Given the description of an element on the screen output the (x, y) to click on. 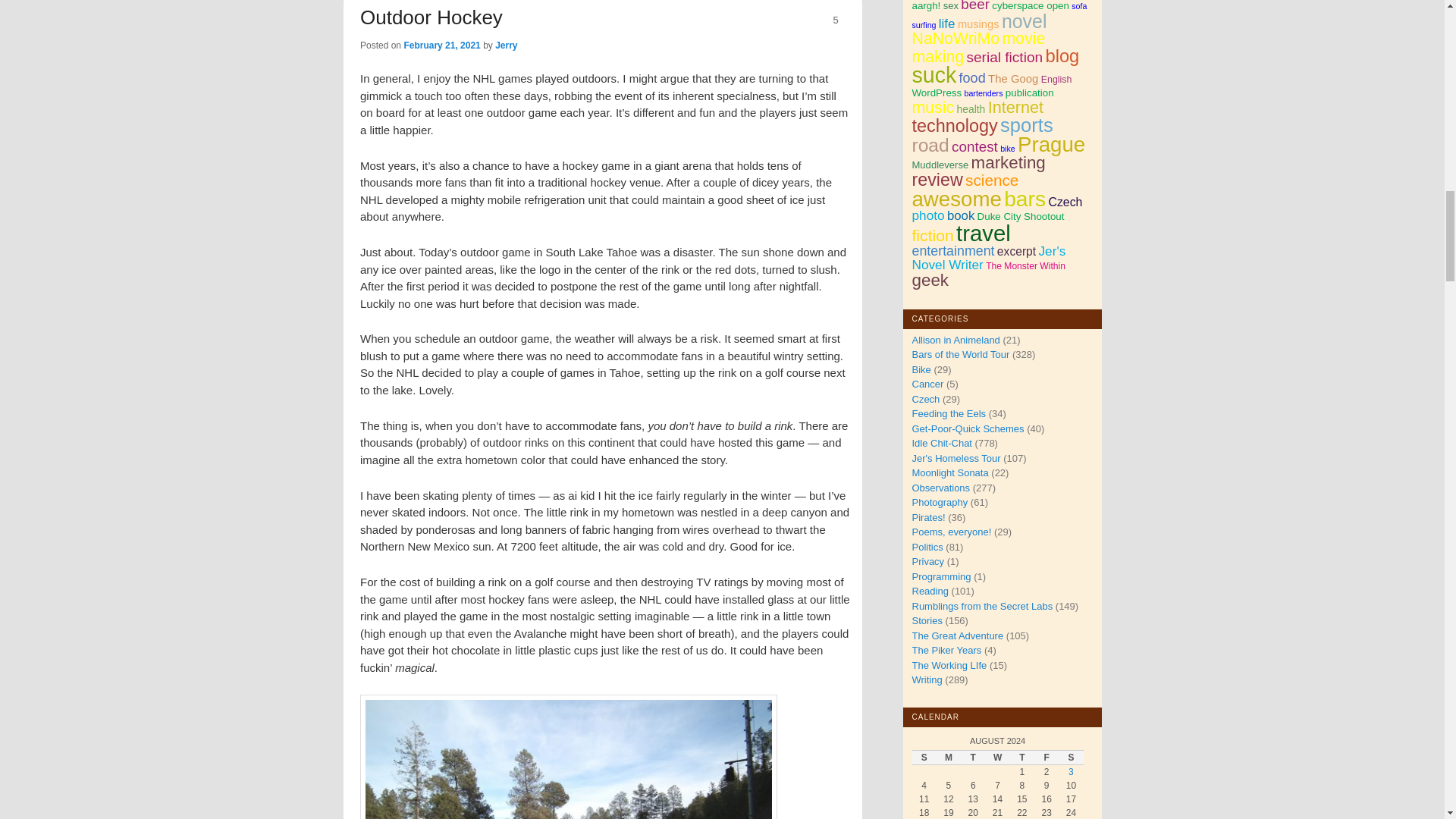
Outdoor Hockey (430, 16)
View all posts by Jerry (505, 45)
5 (834, 20)
1:39 am (441, 45)
February 21, 2021 (441, 45)
Jerry (505, 45)
